Given the description of an element on the screen output the (x, y) to click on. 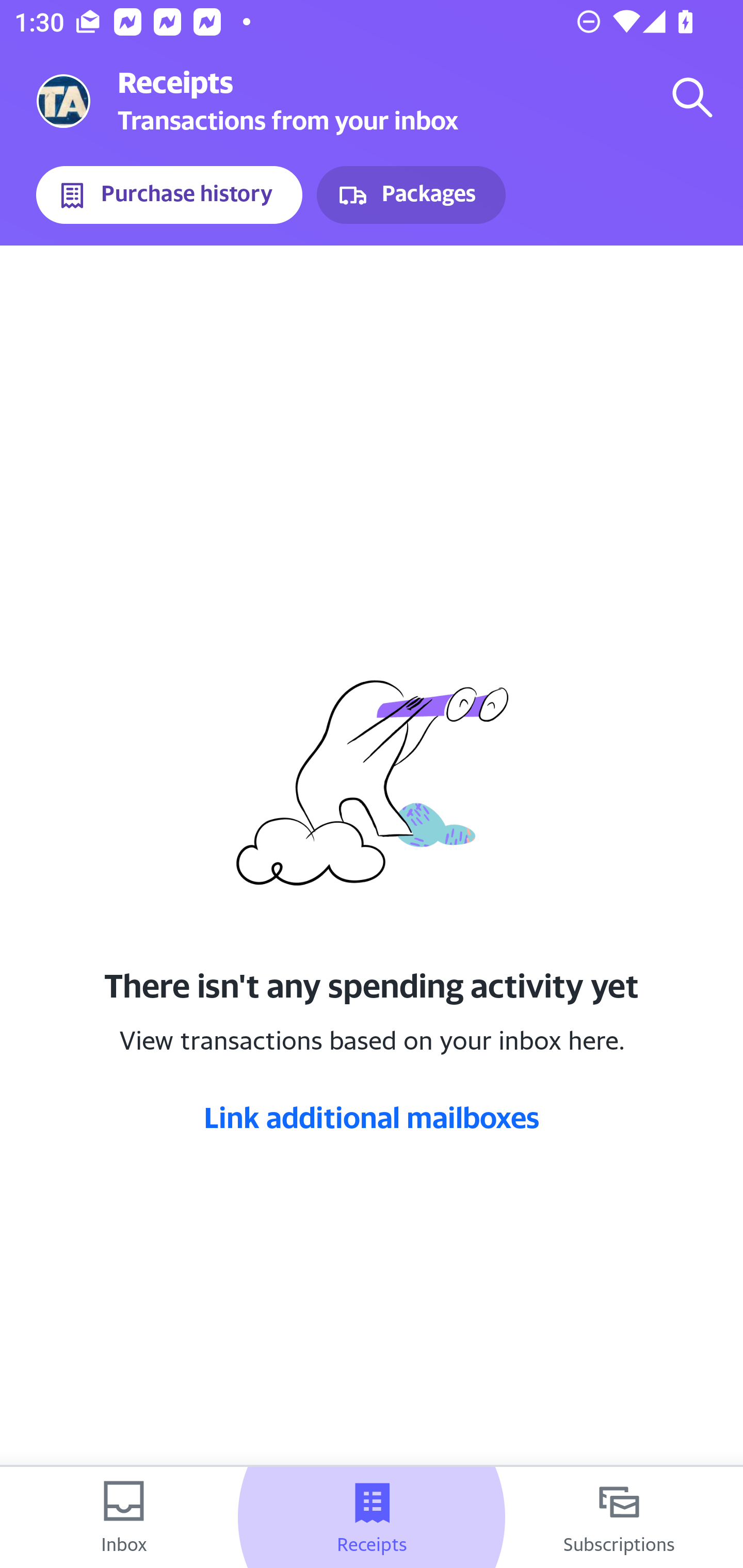
Search mail (692, 97)
Packages (410, 195)
Link additional mailboxes (371, 1117)
Inbox (123, 1517)
Receipts (371, 1517)
Subscriptions (619, 1517)
